Given the description of an element on the screen output the (x, y) to click on. 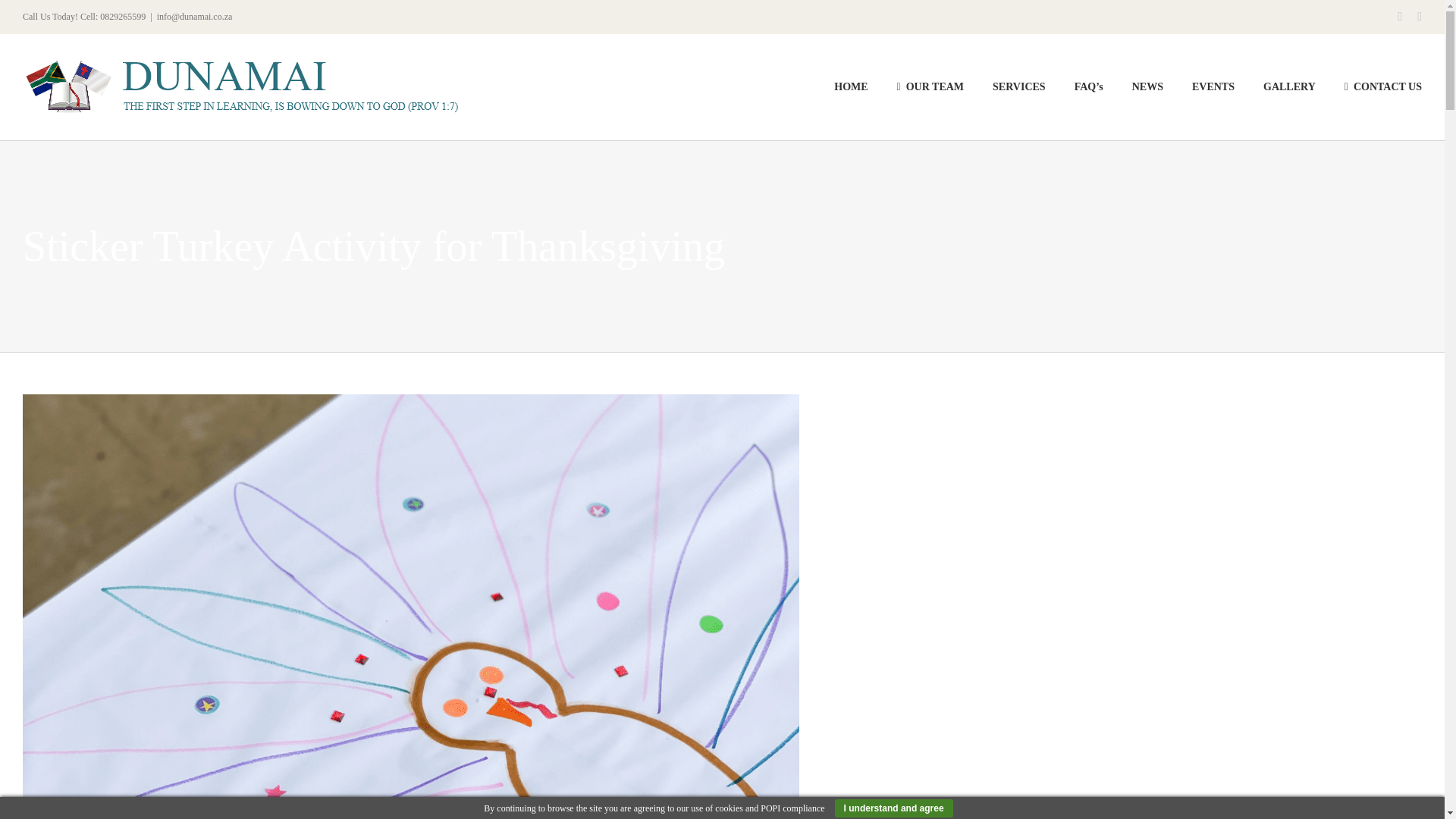
CONTACT US (1382, 86)
Email (1419, 16)
EVENTS (1213, 86)
GALLERY (1289, 86)
NEWS (1147, 86)
HOME (850, 86)
OUR TEAM (929, 86)
Facebook (1399, 16)
SERVICES (1018, 86)
